Given the description of an element on the screen output the (x, y) to click on. 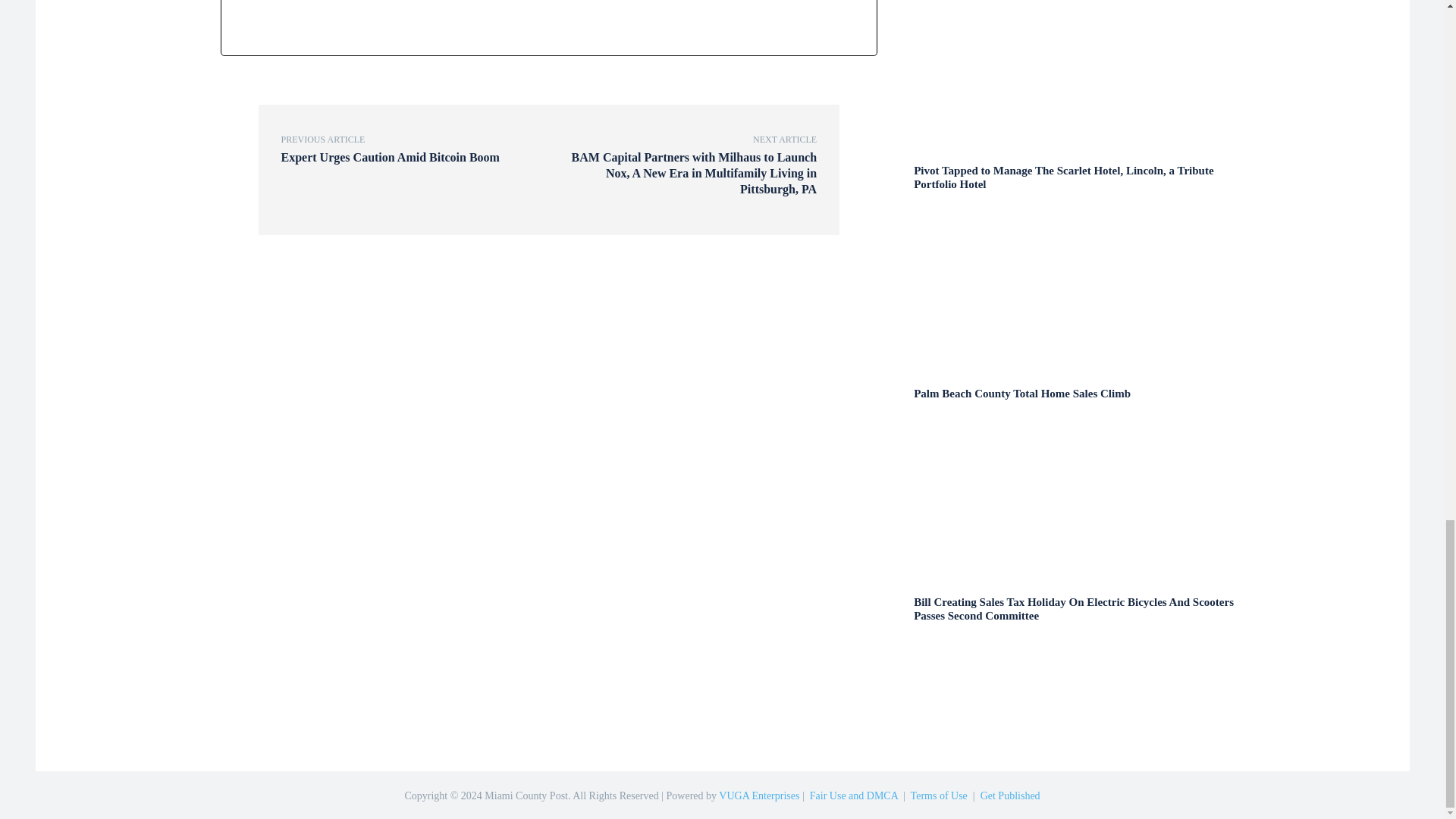
See Full Bio (386, 1)
Expert Urges Caution Amid Bitcoin Boom (390, 156)
Palm Beach County Total Home Sales Climb (1022, 393)
